Given the description of an element on the screen output the (x, y) to click on. 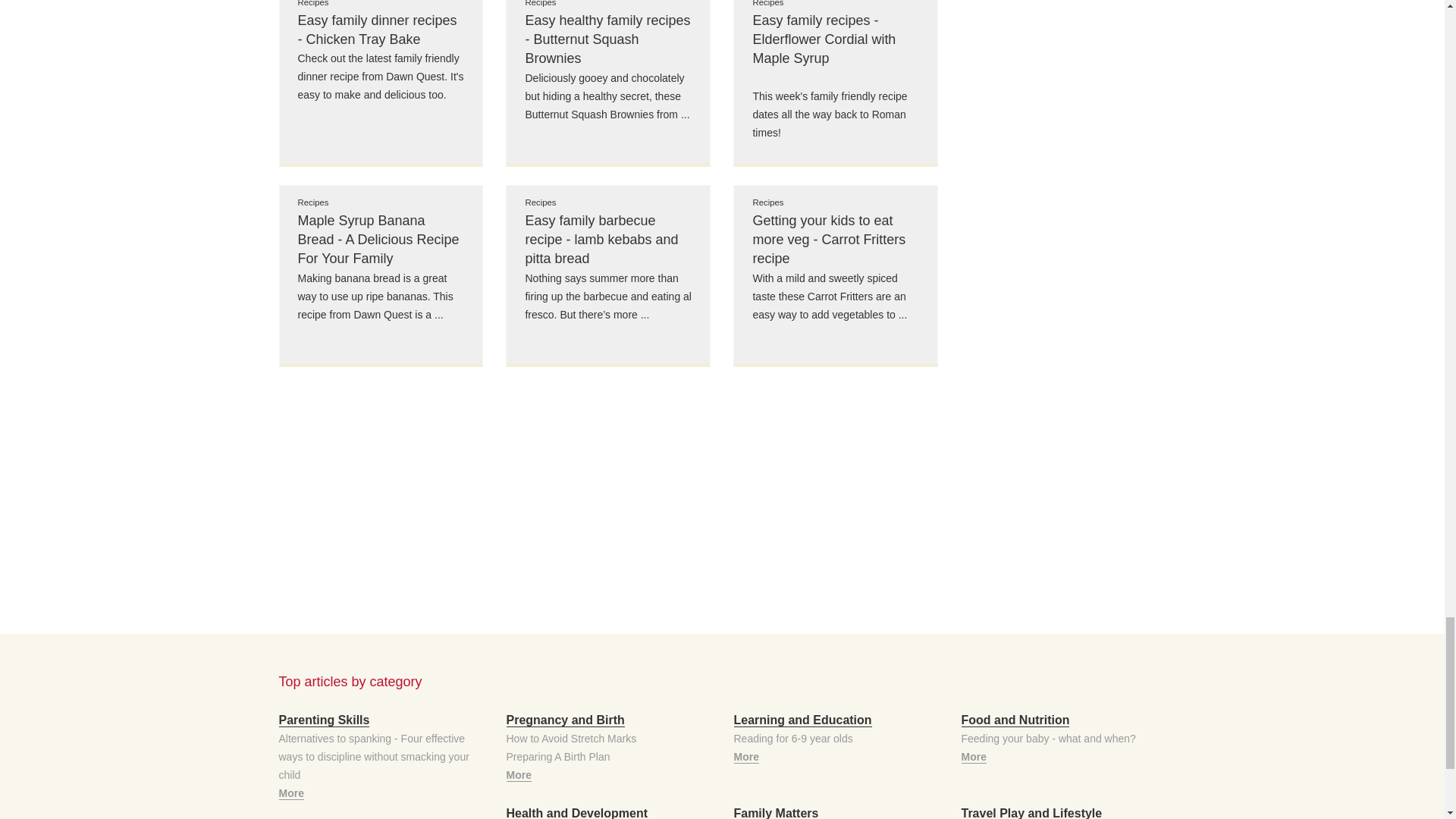
Recipes (380, 5)
Getting your kids to eat more veg - Carrot Fritters recipe (835, 240)
Easy healthy family recipes - Butternut Squash Brownies (607, 39)
Recipes (835, 202)
Recipes (835, 5)
Recipes (607, 5)
Easy family recipes - Elderflower Cordial with Maple Syrup (835, 39)
Recipes (607, 202)
